Given the description of an element on the screen output the (x, y) to click on. 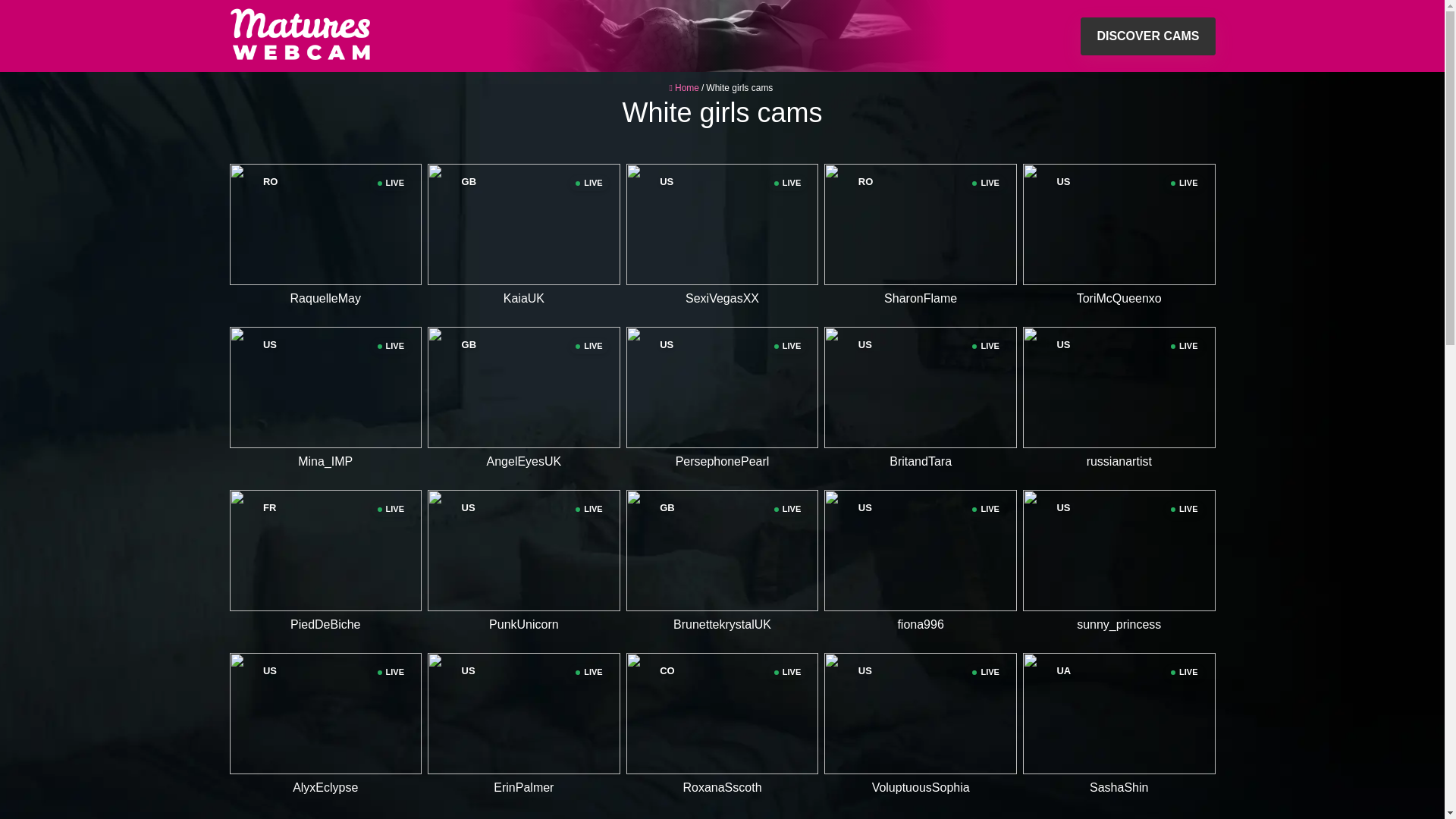
Home (722, 549)
DISCOVER CAMS (686, 87)
DISCOVER CAMS (722, 224)
